Given the description of an element on the screen output the (x, y) to click on. 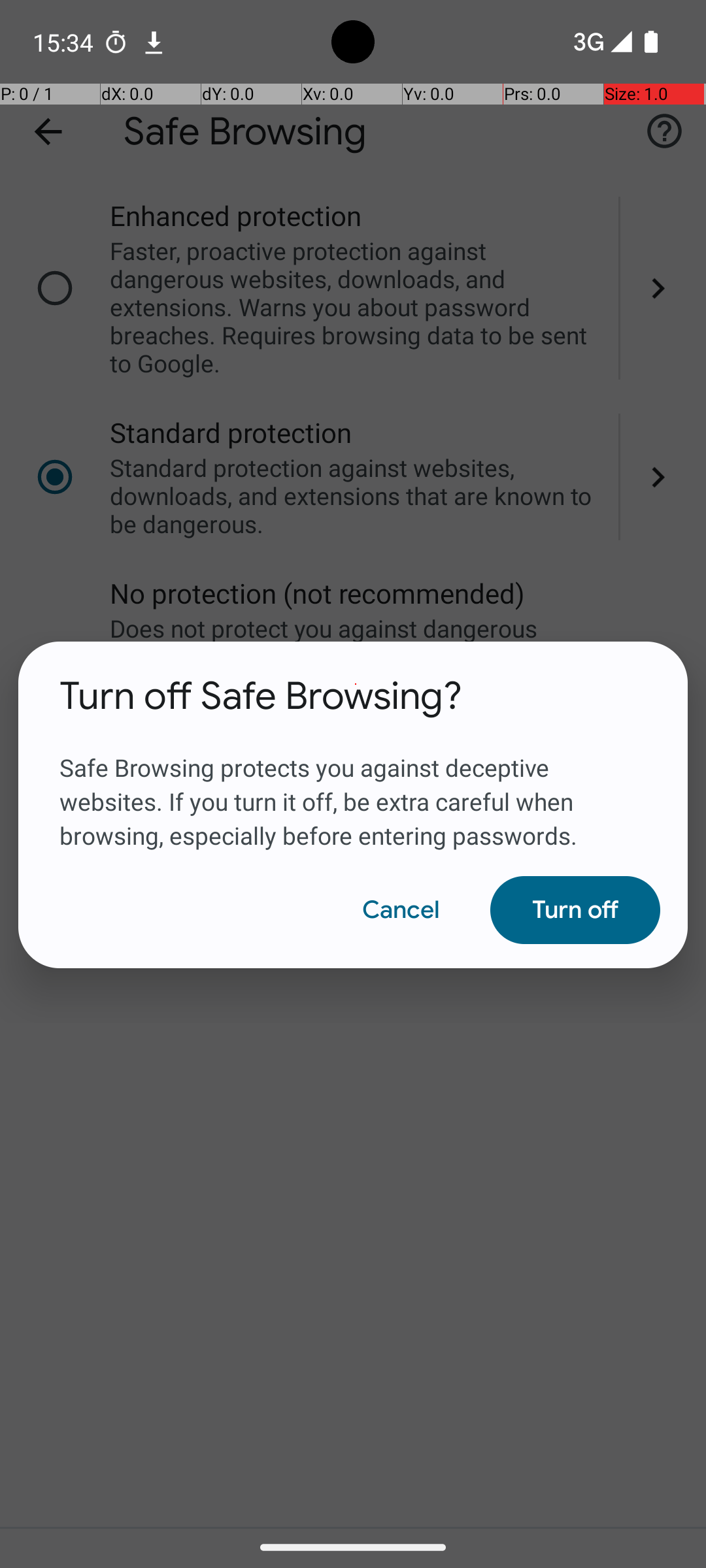
Turn off Safe Browsing? Element type: android.widget.TextView (260, 695)
Safe Browsing protects you against deceptive websites. If you turn it off, be extra careful when browsing, especially before entering passwords. Element type: android.widget.TextView (352, 785)
Turn off Element type: android.widget.Button (575, 909)
Chrome notification: m.youtube.com Element type: android.widget.ImageView (153, 41)
